Given the description of an element on the screen output the (x, y) to click on. 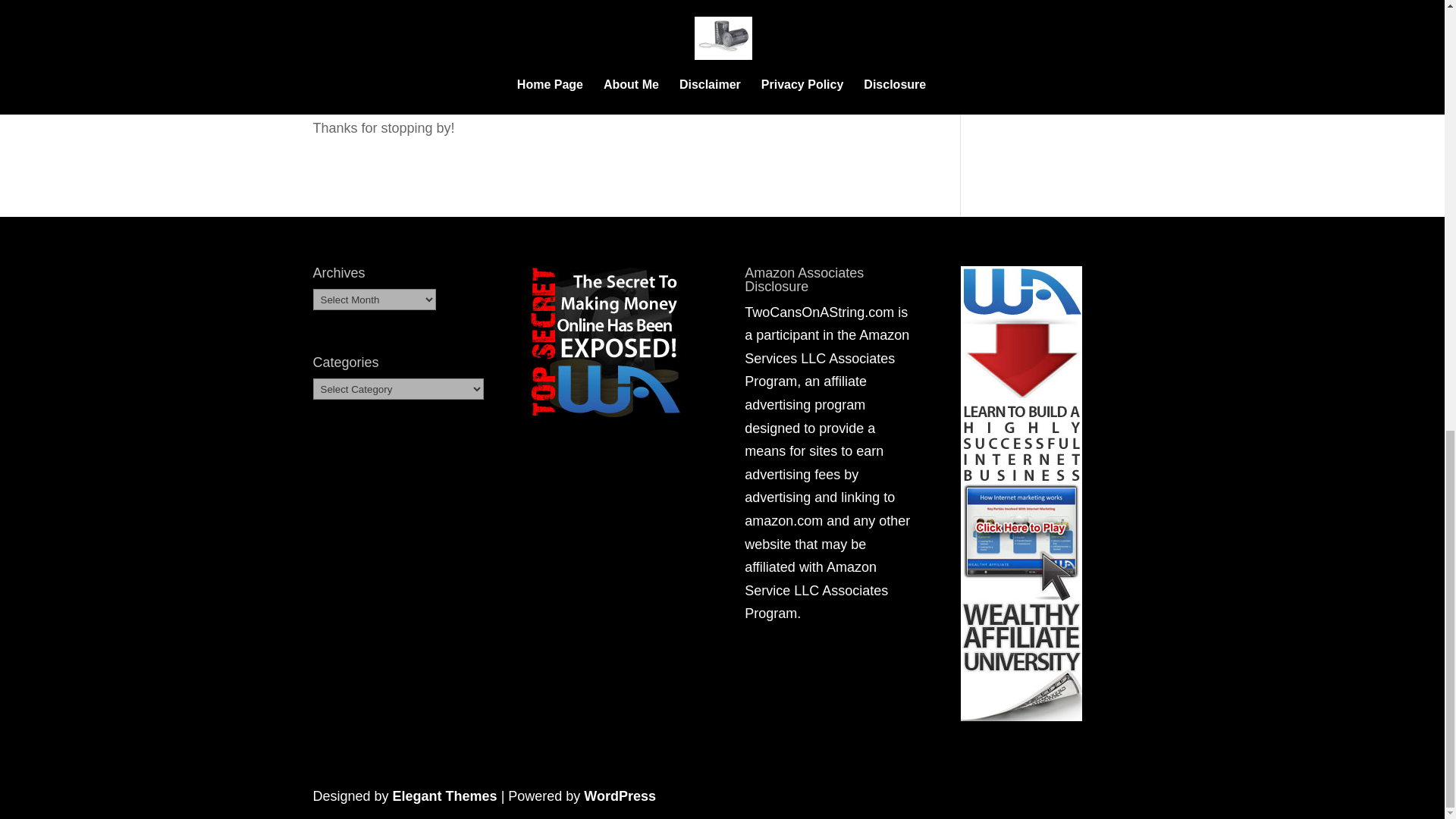
WordPress (619, 795)
Clear Monofilament (613, 17)
Clear Monofilament (613, 17)
Premium WordPress Themes (445, 795)
Battery-Operated Votive Candles (613, 54)
Elegant Themes (445, 795)
Battery-Operated Votive Candles (613, 54)
